Given the description of an element on the screen output the (x, y) to click on. 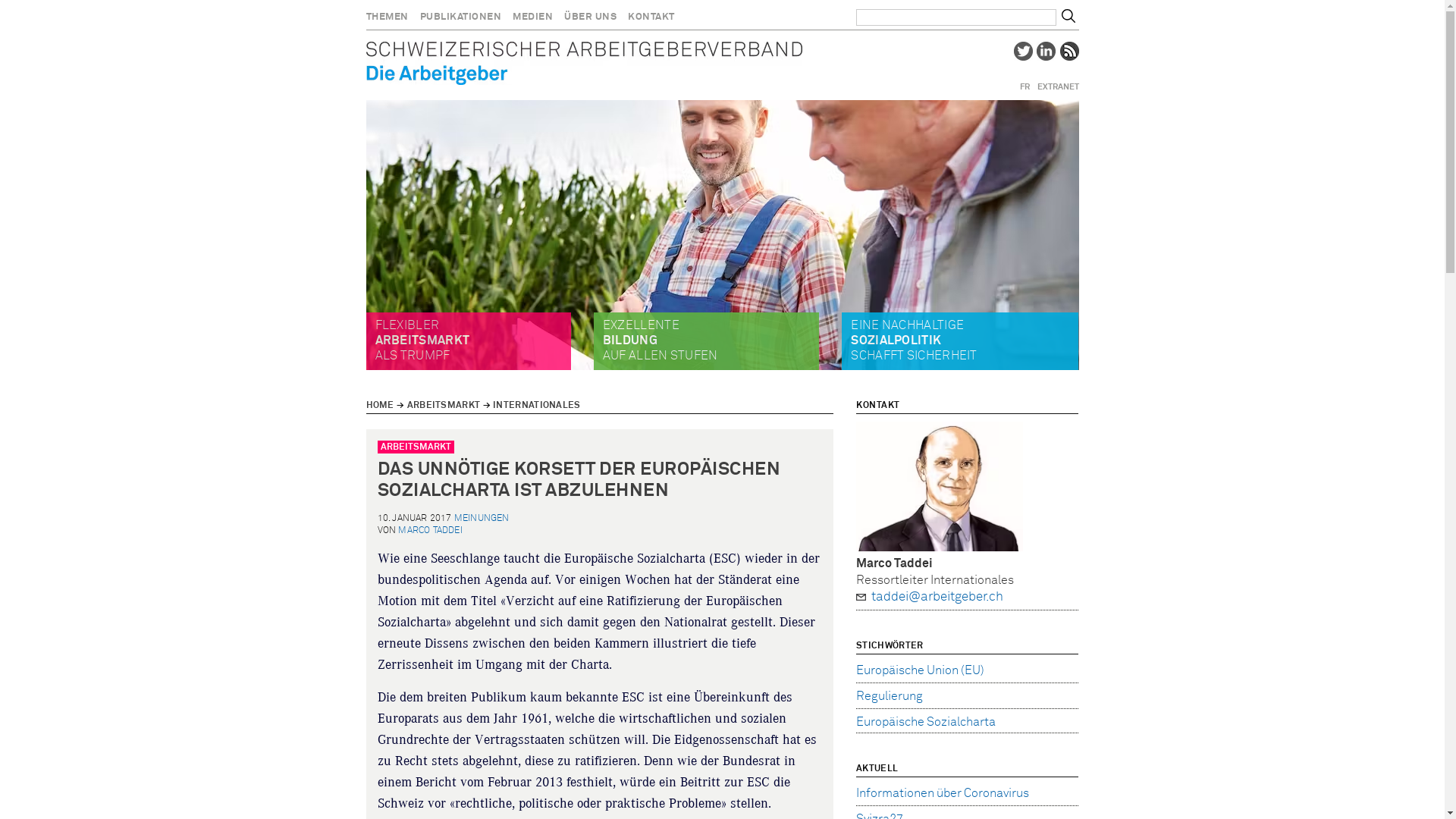
FR Element type: text (1024, 86)
ARBEITSMARKT Element type: text (415, 446)
Regulierung Element type: text (889, 695)
MARCO TADDEI Element type: text (429, 530)
MEINUNGEN Element type: text (481, 518)
KONTAKT Element type: text (656, 19)
EINE NACHHALTIGE
SOZIALPOLITIK
SCHAFFT SICHERHEIT Element type: text (913, 340)
taddei@arbeitgeber.ch Element type: text (974, 596)
INTERNATIONALES Element type: text (536, 405)
EXTRANET Element type: text (1058, 86)
HOME Element type: text (379, 405)
FLEXIBLER
ARBEITSMARKT
ALS TRUMPF Element type: text (421, 340)
EXZELLENTE
BILDUNG
AUF ALLEN STUFEN Element type: text (660, 340)
ARBEITSMARKT Element type: text (443, 405)
